Given the description of an element on the screen output the (x, y) to click on. 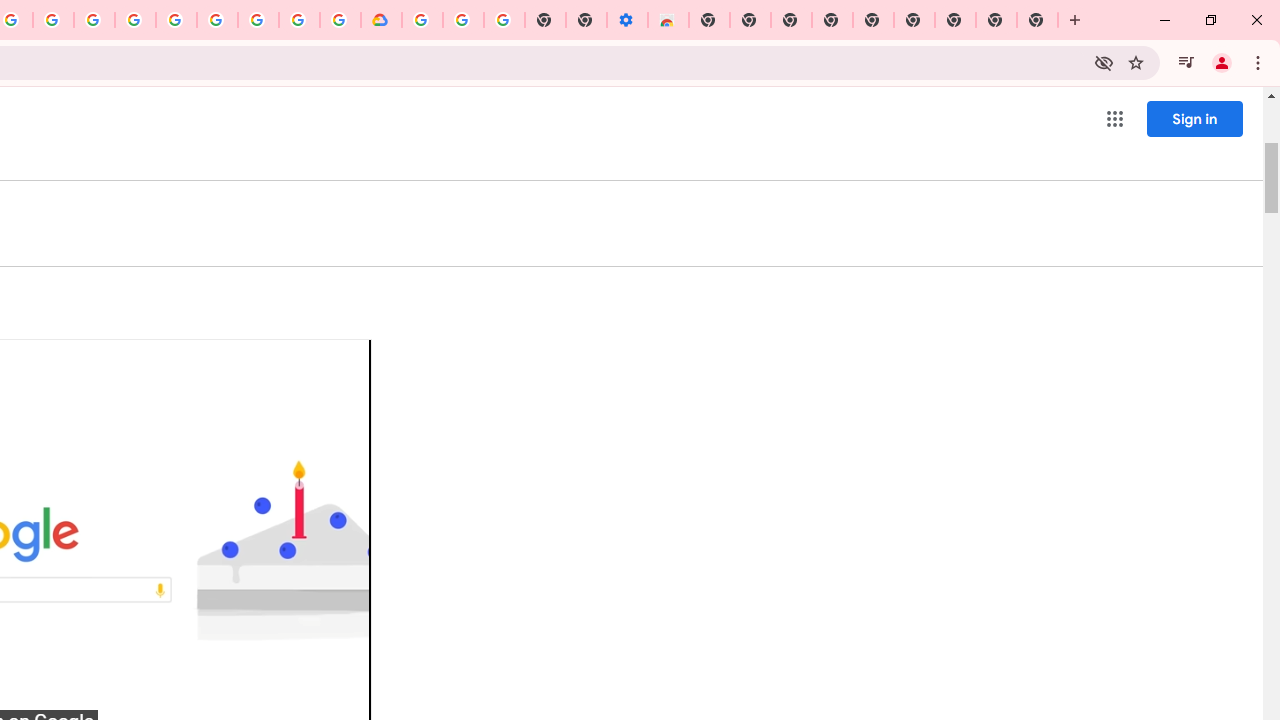
Create your Google Account (53, 20)
Copy link (319, 370)
Chrome Web Store - Accessibility extensions (667, 20)
Turn cookies on or off - Computer - Google Account Help (503, 20)
Sign in - Google Accounts (421, 20)
New Tab (1037, 20)
Ad Settings (135, 20)
Create your Google Account (299, 20)
